Given the description of an element on the screen output the (x, y) to click on. 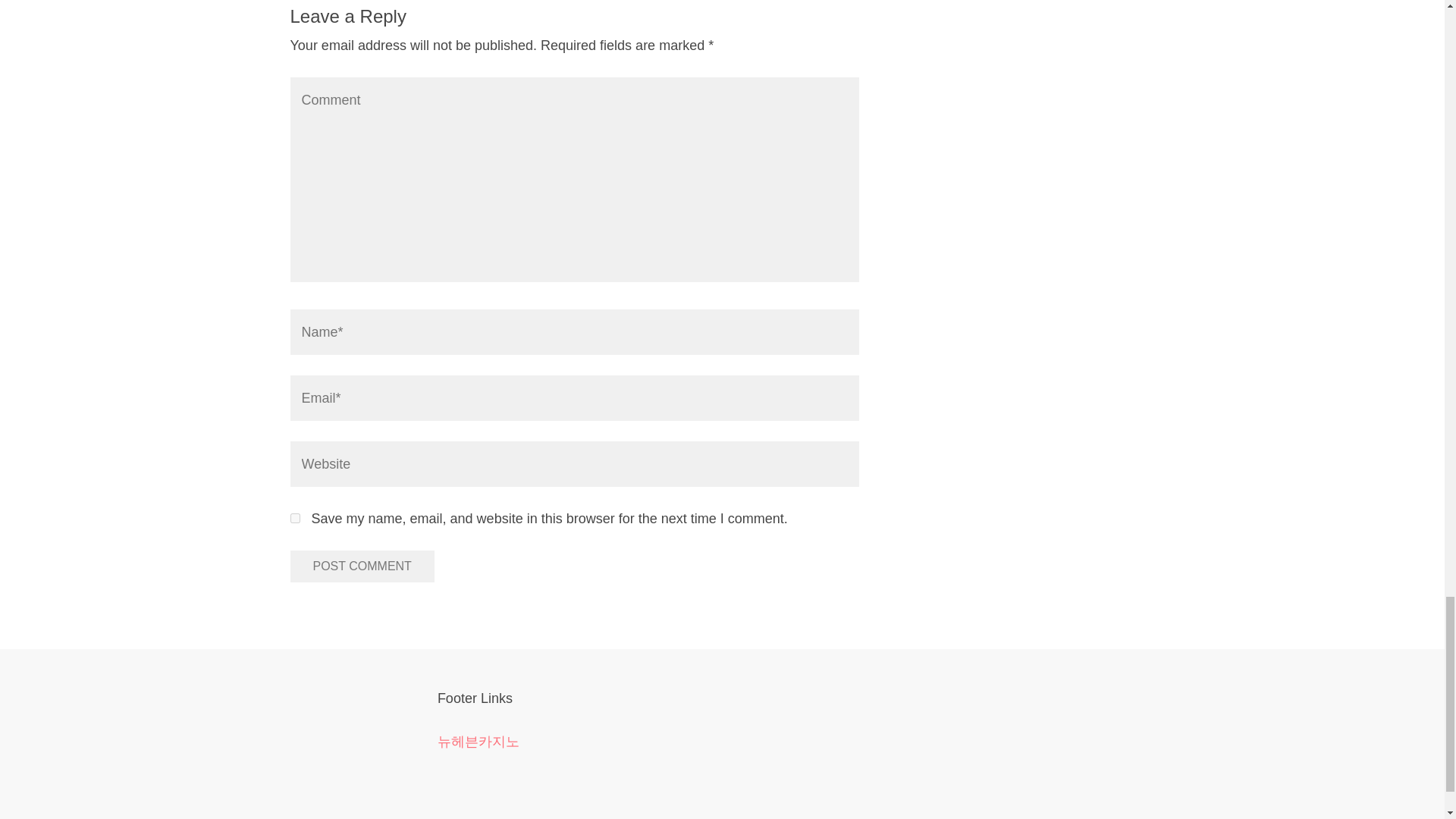
yes (294, 518)
Post Comment (361, 566)
Post Comment (361, 566)
